Given the description of an element on the screen output the (x, y) to click on. 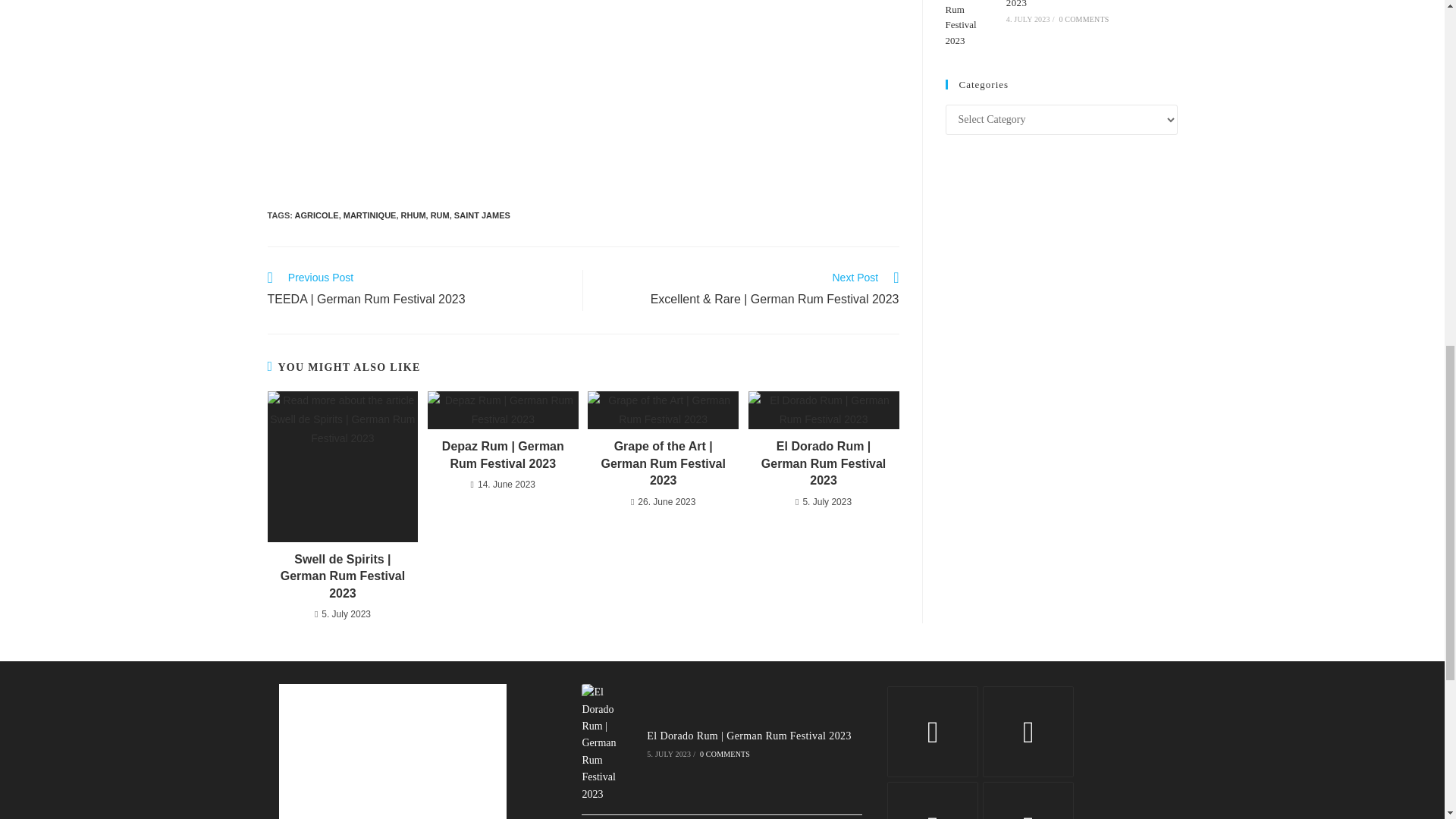
SAINT JAMES (482, 215)
RUM (439, 215)
RHUM (413, 215)
MARTINIQUE (369, 215)
AGRICOLE (317, 215)
